Given the description of an element on the screen output the (x, y) to click on. 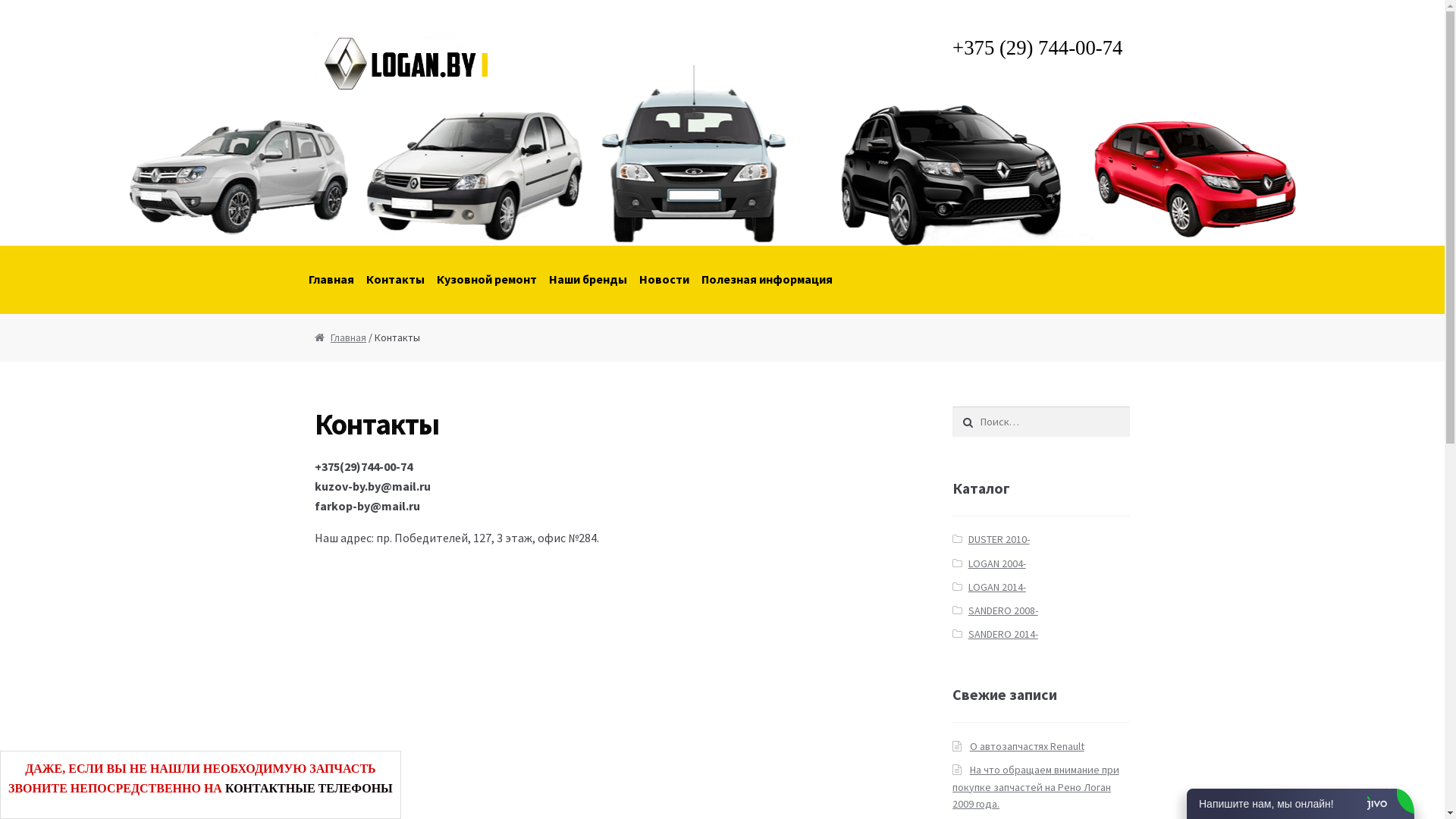
SANDERO 2008- Element type: text (1003, 610)
LOGAN 2004- Element type: text (997, 563)
DUSTER 2010- Element type: text (998, 539)
SANDERO 2014- Element type: text (1003, 633)
LOGAN 2014- Element type: text (997, 586)
